Given the description of an element on the screen output the (x, y) to click on. 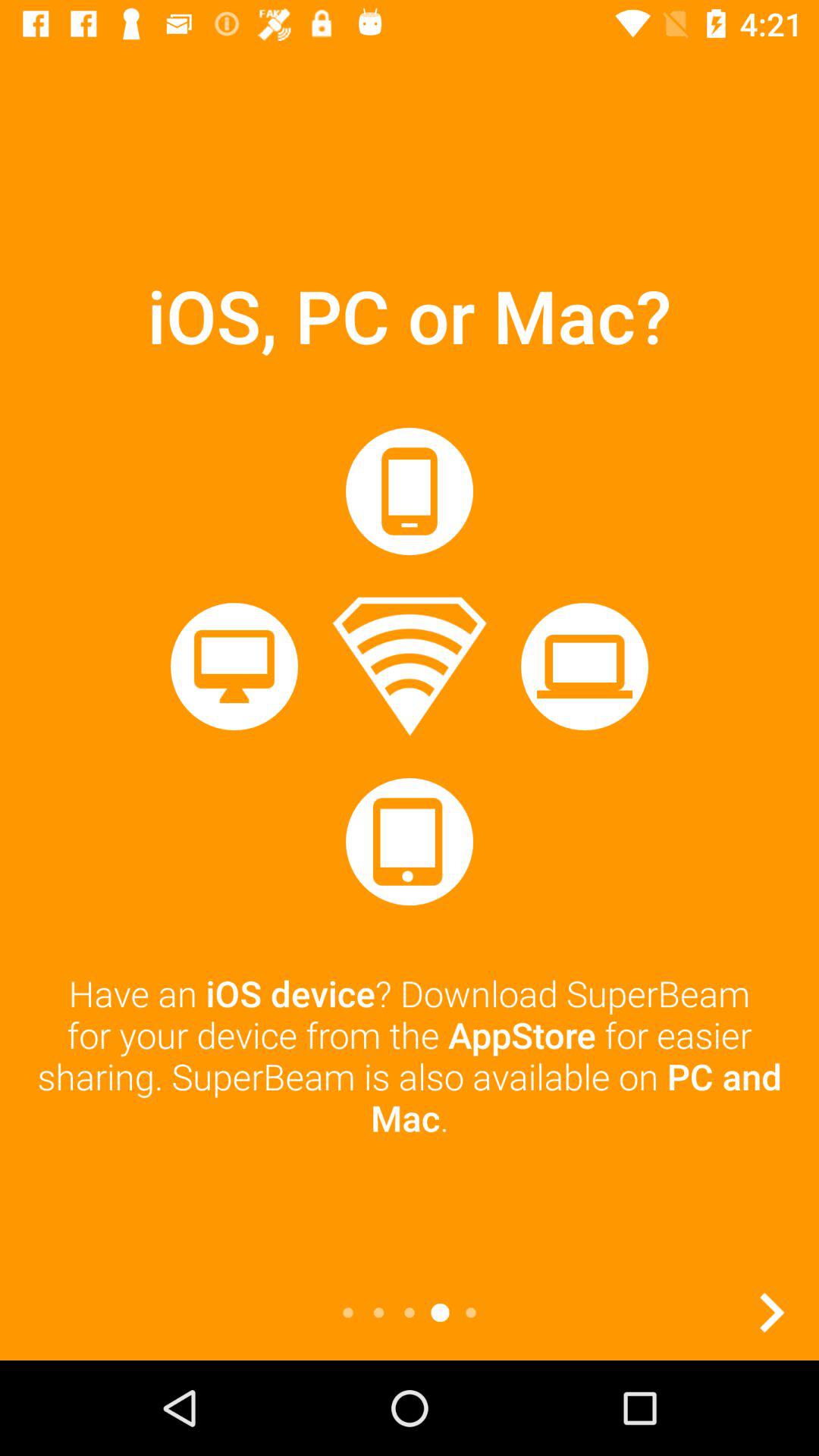
go forward (771, 1312)
